Given the description of an element on the screen output the (x, y) to click on. 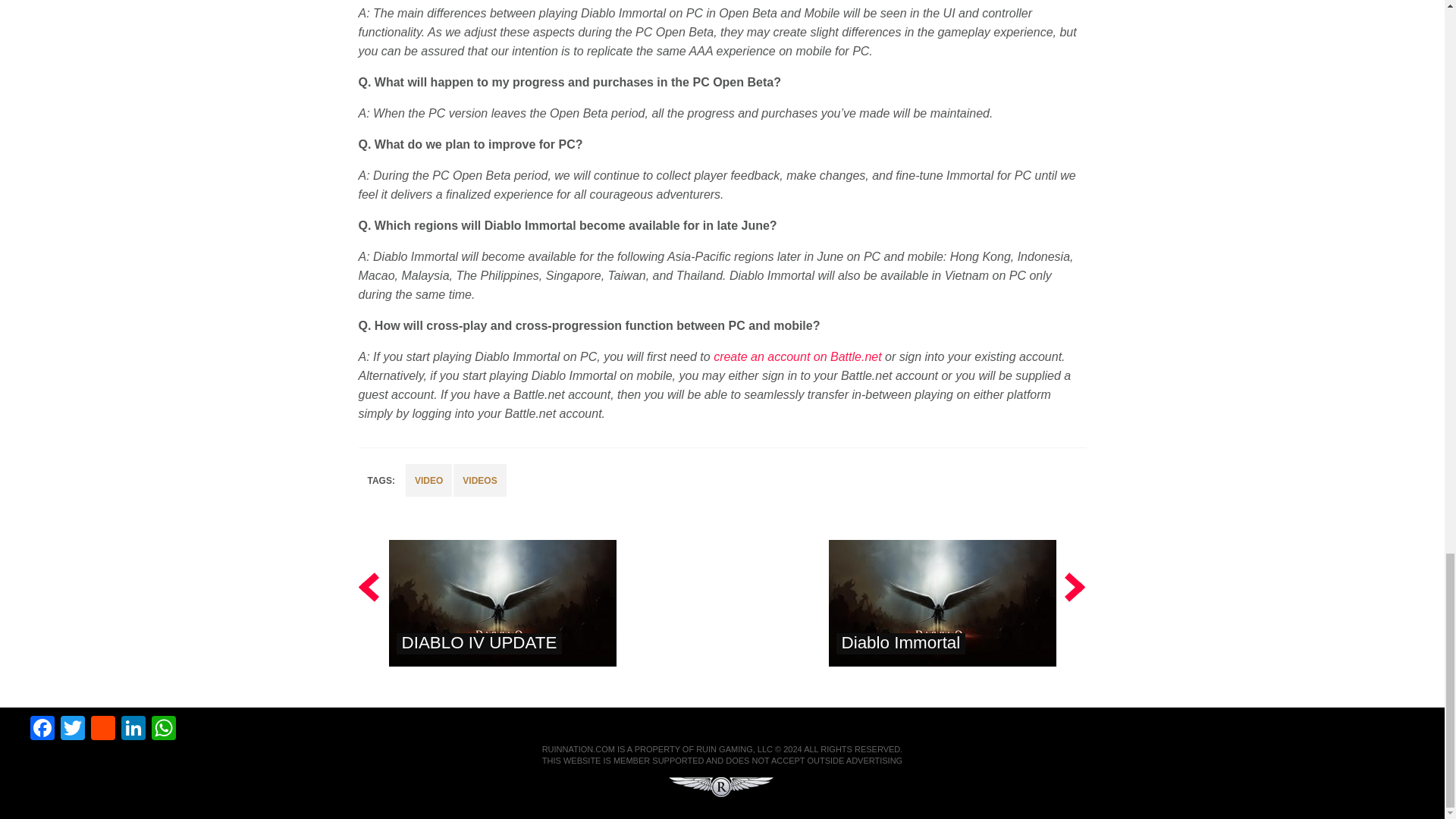
Diablo Immortal (900, 642)
Reddit (102, 729)
VIDEOS (479, 480)
Twitter (72, 729)
DIABLO IV UPDATE (479, 642)
Twitter (72, 729)
create an account on Battle.net (796, 356)
LinkedIn (132, 729)
WhatsApp (163, 729)
Facebook (42, 729)
